Given the description of an element on the screen output the (x, y) to click on. 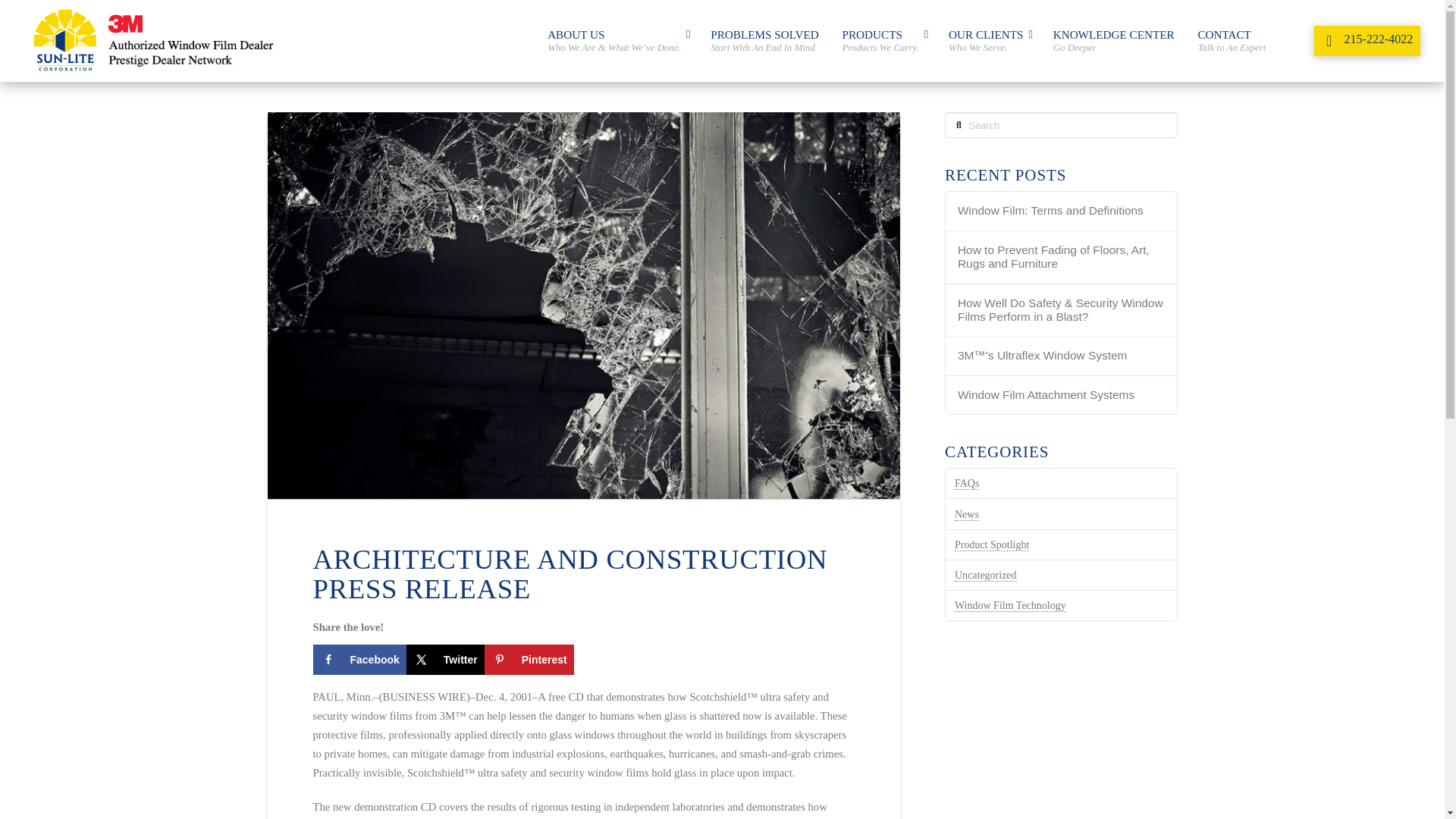
Save to Pinterest (1232, 40)
Window Film: Terms and Definitions (528, 659)
Share on Facebook (989, 40)
Window Film Technology (1061, 210)
FAQs (359, 659)
Product Spotlight (1010, 605)
Uncategorized (966, 483)
